Given the description of an element on the screen output the (x, y) to click on. 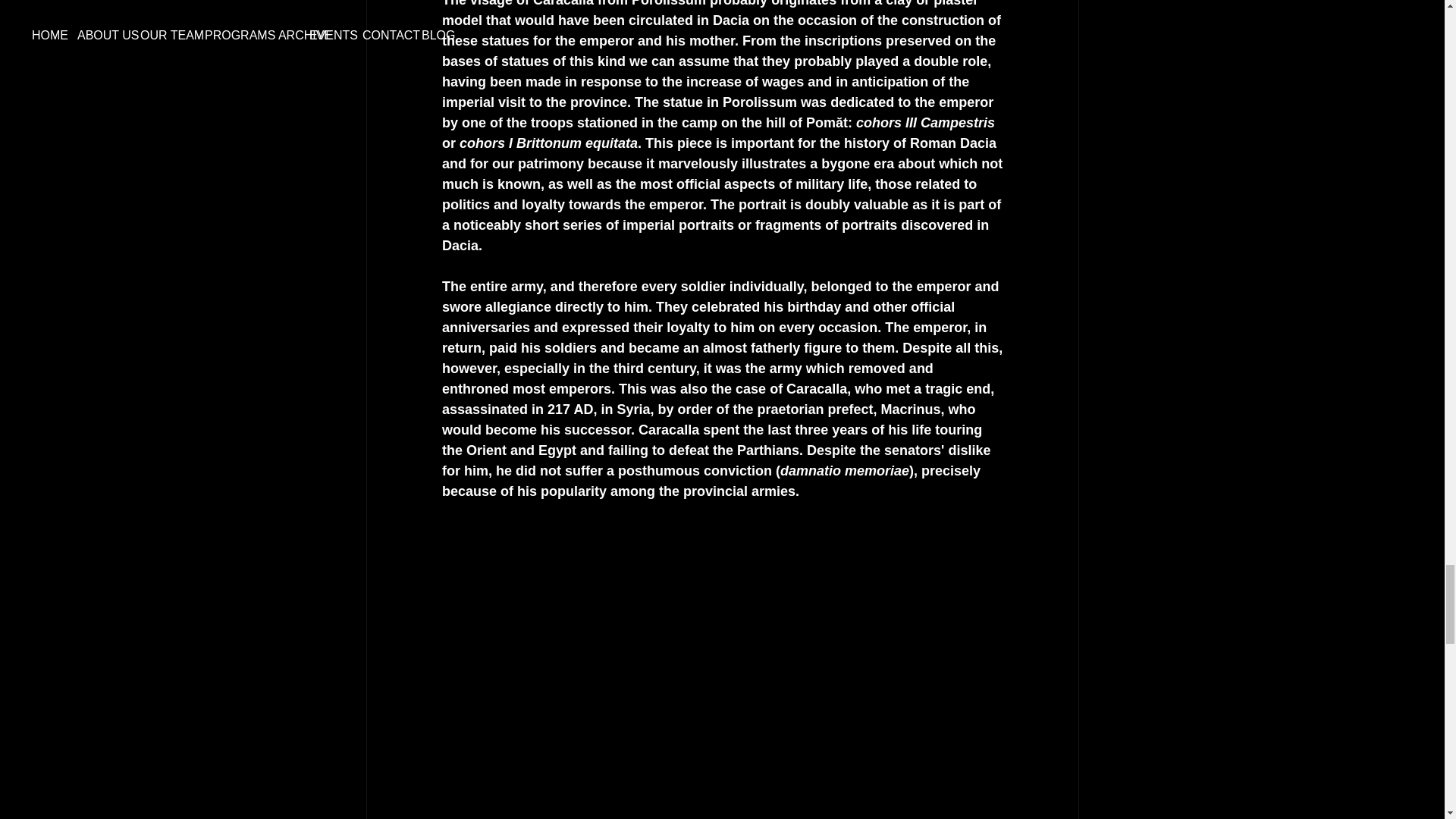
ricos-video (722, 601)
